Given the description of an element on the screen output the (x, y) to click on. 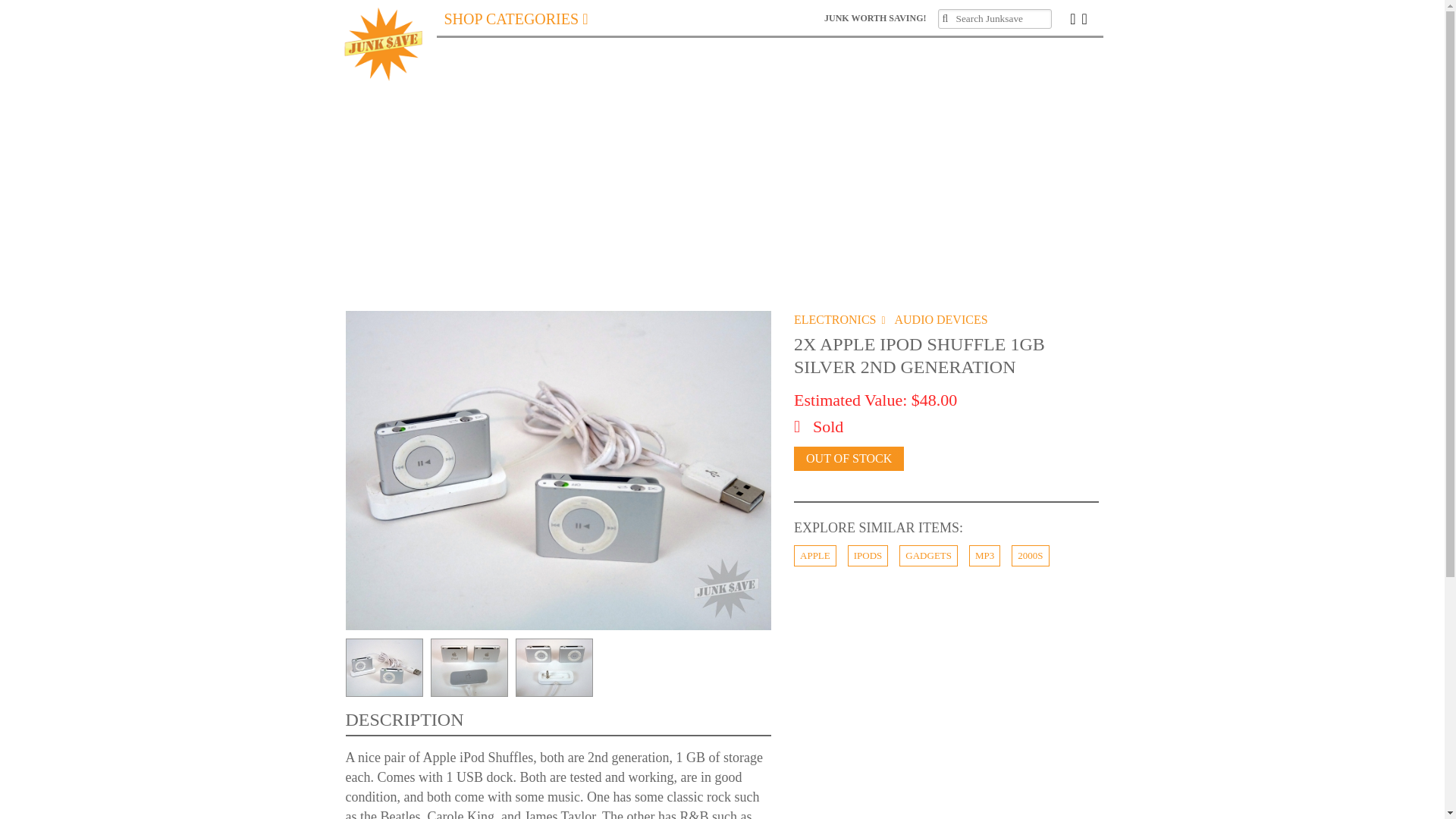
Cart (1091, 16)
SHOP CATEGORIES (516, 18)
Shop for antiques and collectibles (516, 18)
Enter the terms you wish to search for. (994, 18)
Advertisement (946, 712)
Out of stock (848, 458)
